Given the description of an element on the screen output the (x, y) to click on. 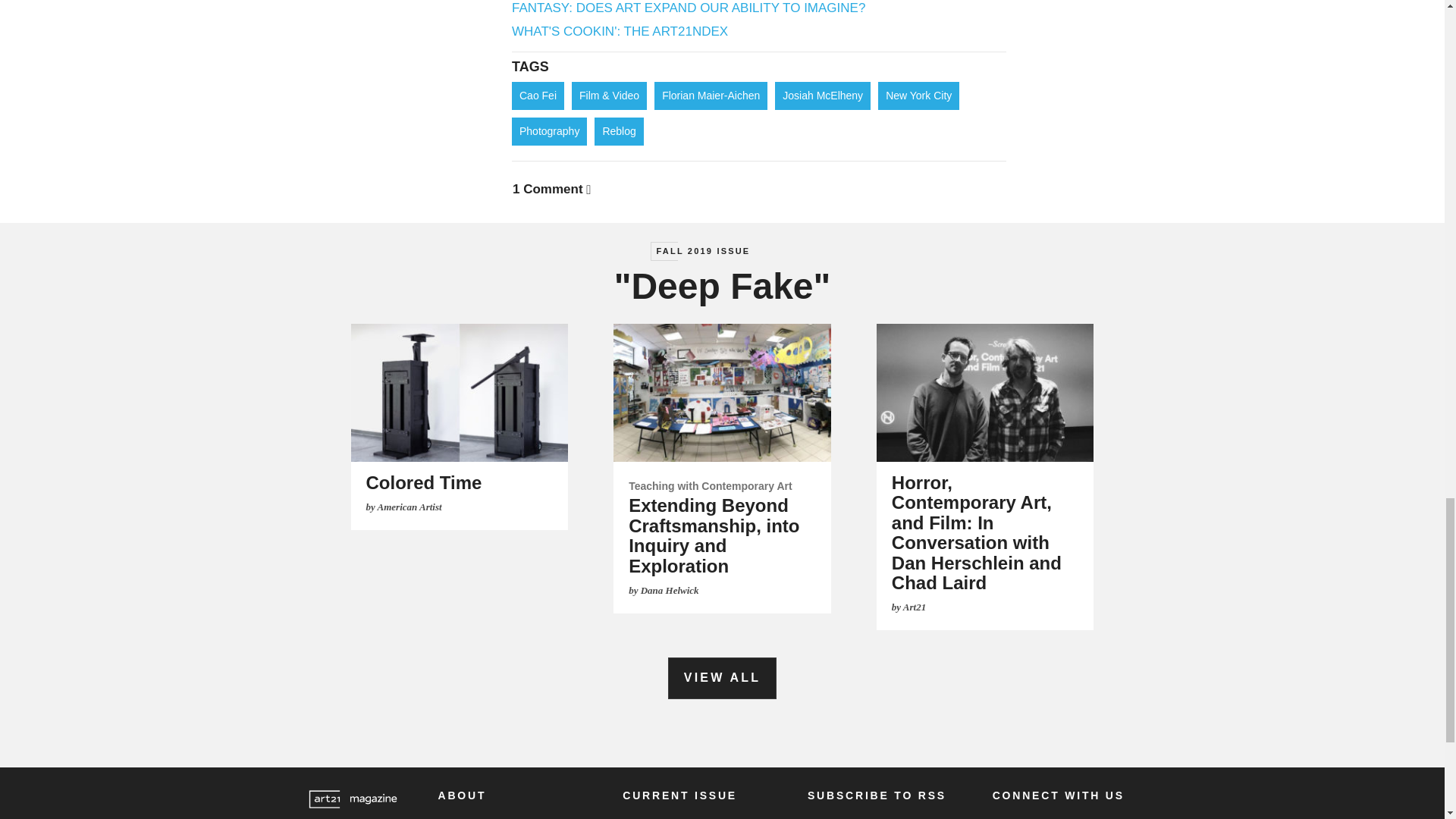
Art21 Magazine (351, 799)
